Given the description of an element on the screen output the (x, y) to click on. 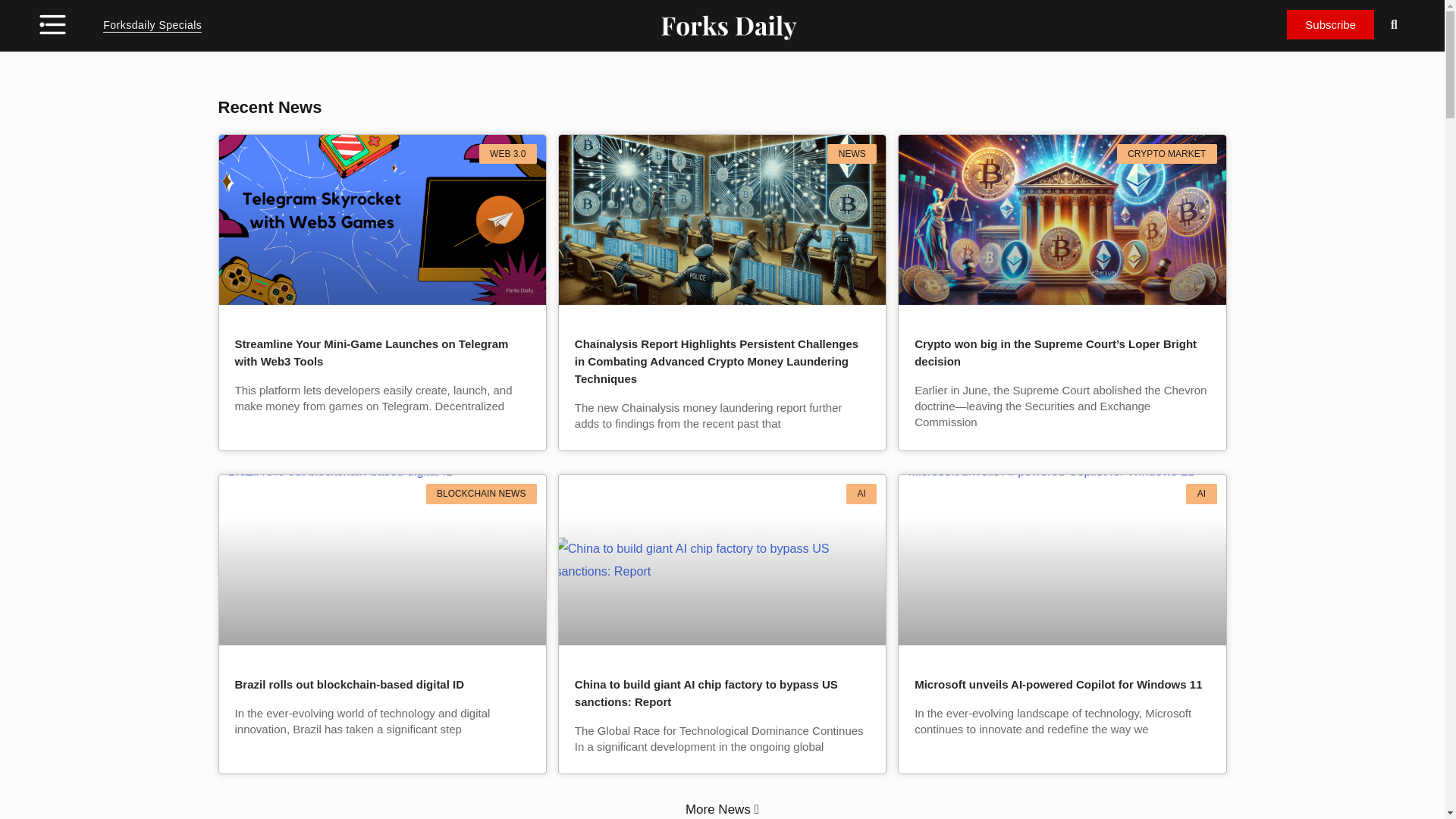
Forksdaily Specials (152, 25)
Microsoft unveils AI-powered Copilot for Windows 11 (1059, 558)
Microsoft unveils AI-powered Copilot for Windows 11 (1058, 684)
More News (729, 809)
Brazil rolls out blockchain-based digital ID (349, 684)
Forksdaily 4 (379, 218)
Brazil rolls out blockchain-based digital ID (379, 558)
Forksdaily 5 (719, 218)
Forksdaily 6 (1059, 218)
Subscribe (1330, 24)
